Given the description of an element on the screen output the (x, y) to click on. 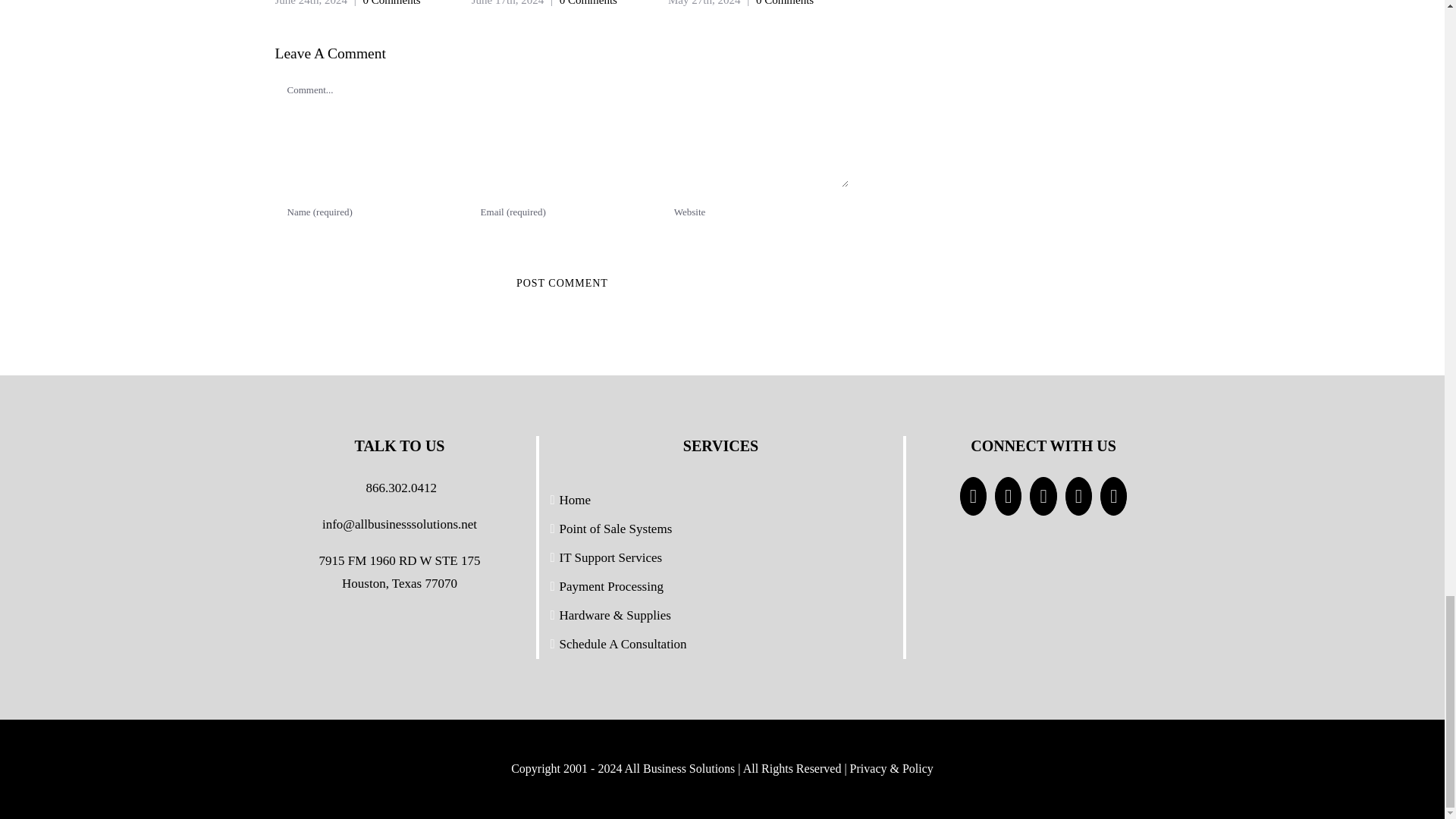
0 Comments (391, 2)
Post Comment (561, 282)
